Given the description of an element on the screen output the (x, y) to click on. 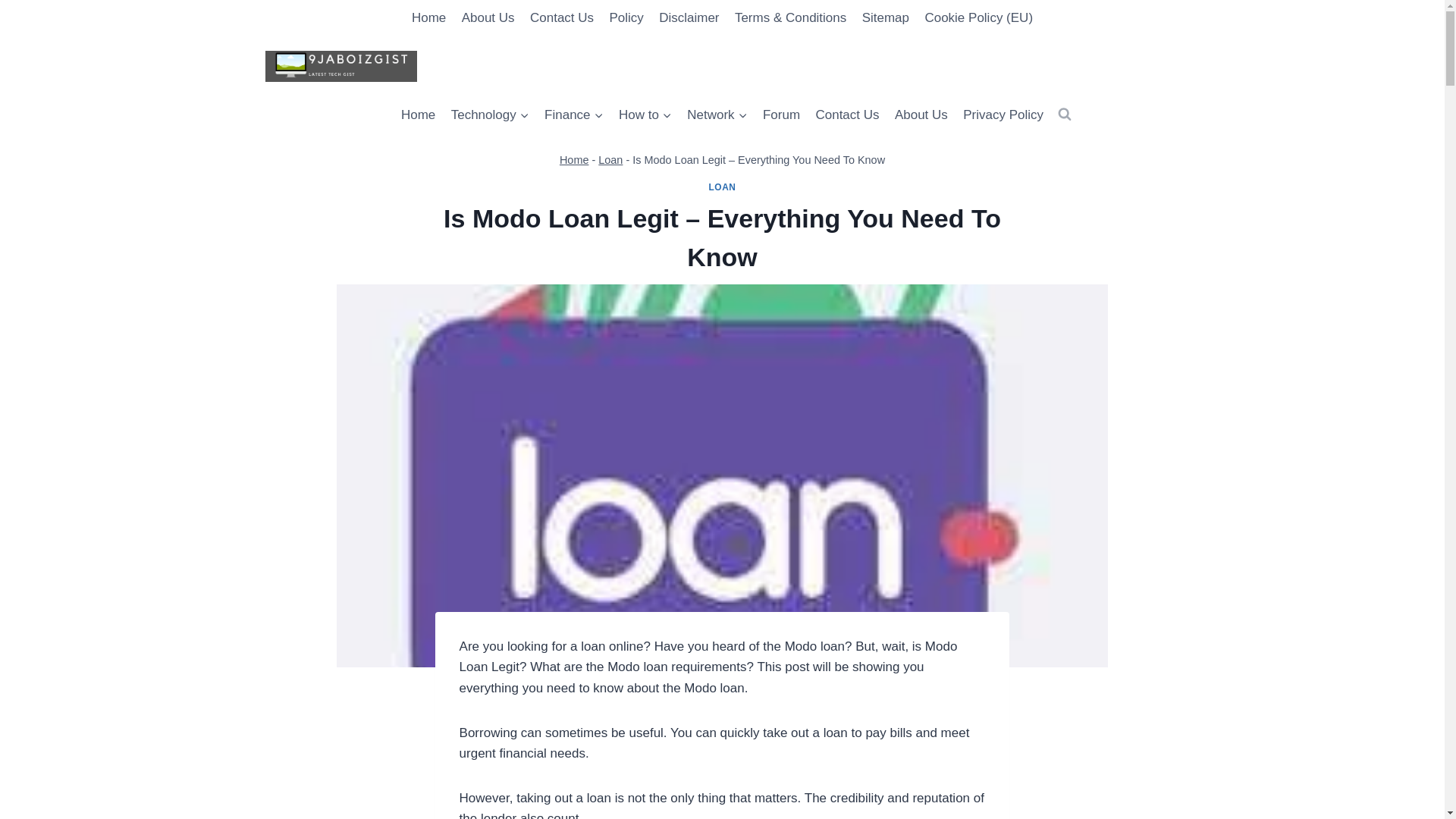
Privacy Policy (1003, 115)
Contact Us (847, 115)
Home (574, 159)
Forum (781, 115)
Sitemap (885, 18)
Home (418, 115)
About Us (920, 115)
Home (429, 18)
Technology (488, 115)
Policy (625, 18)
